Given the description of an element on the screen output the (x, y) to click on. 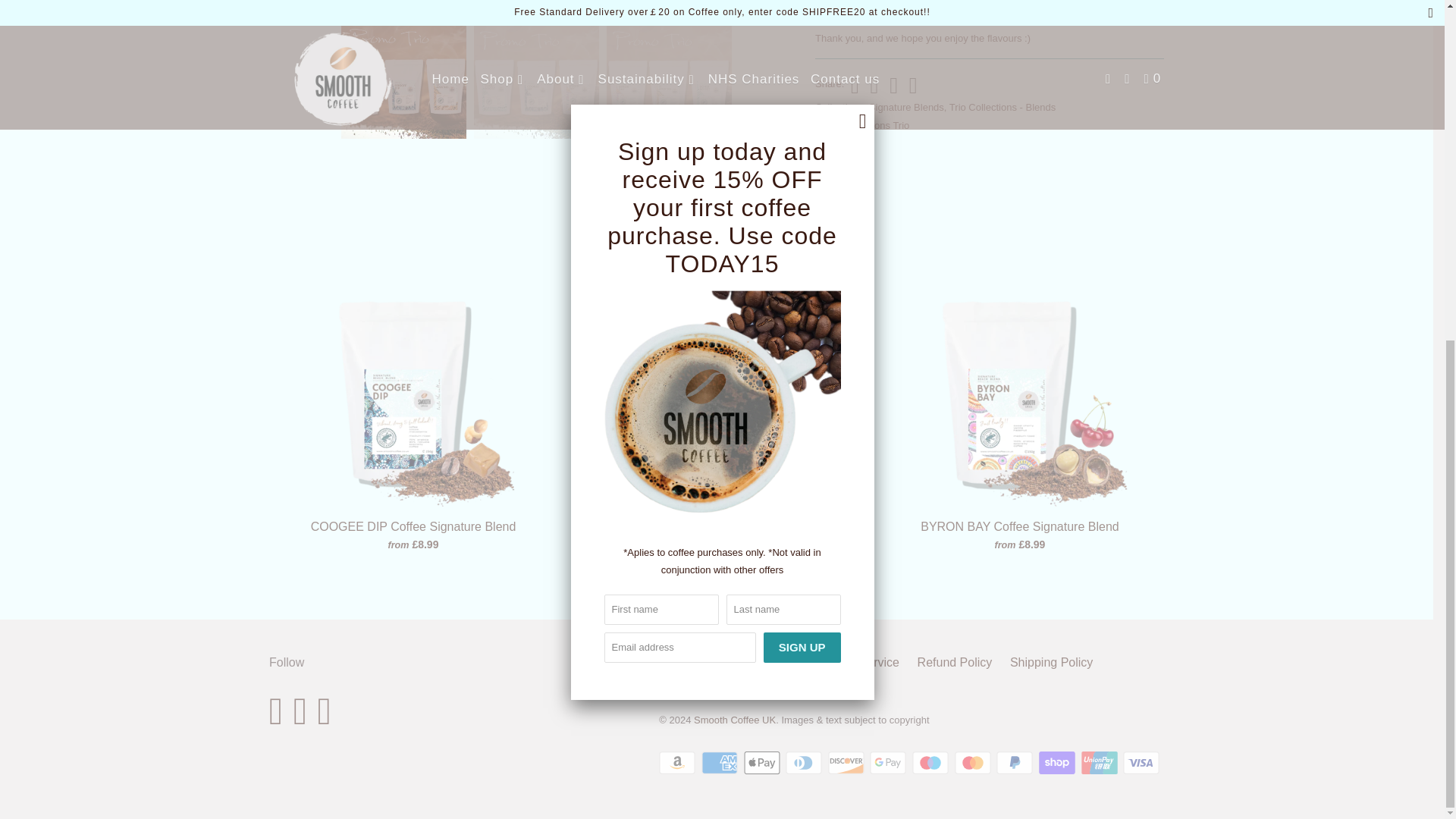
Amazon (678, 762)
PayPal (1015, 762)
Visa (1141, 762)
Mastercard (974, 762)
Maestro (932, 762)
Union Pay (1101, 762)
Discover (847, 762)
Apple Pay (763, 762)
Google Pay (888, 762)
Diners Club (805, 762)
Signature Blends (906, 107)
Shop Pay (1058, 762)
Collections Trio (874, 125)
American Express (721, 762)
Sign Up (801, 70)
